Given the description of an element on the screen output the (x, y) to click on. 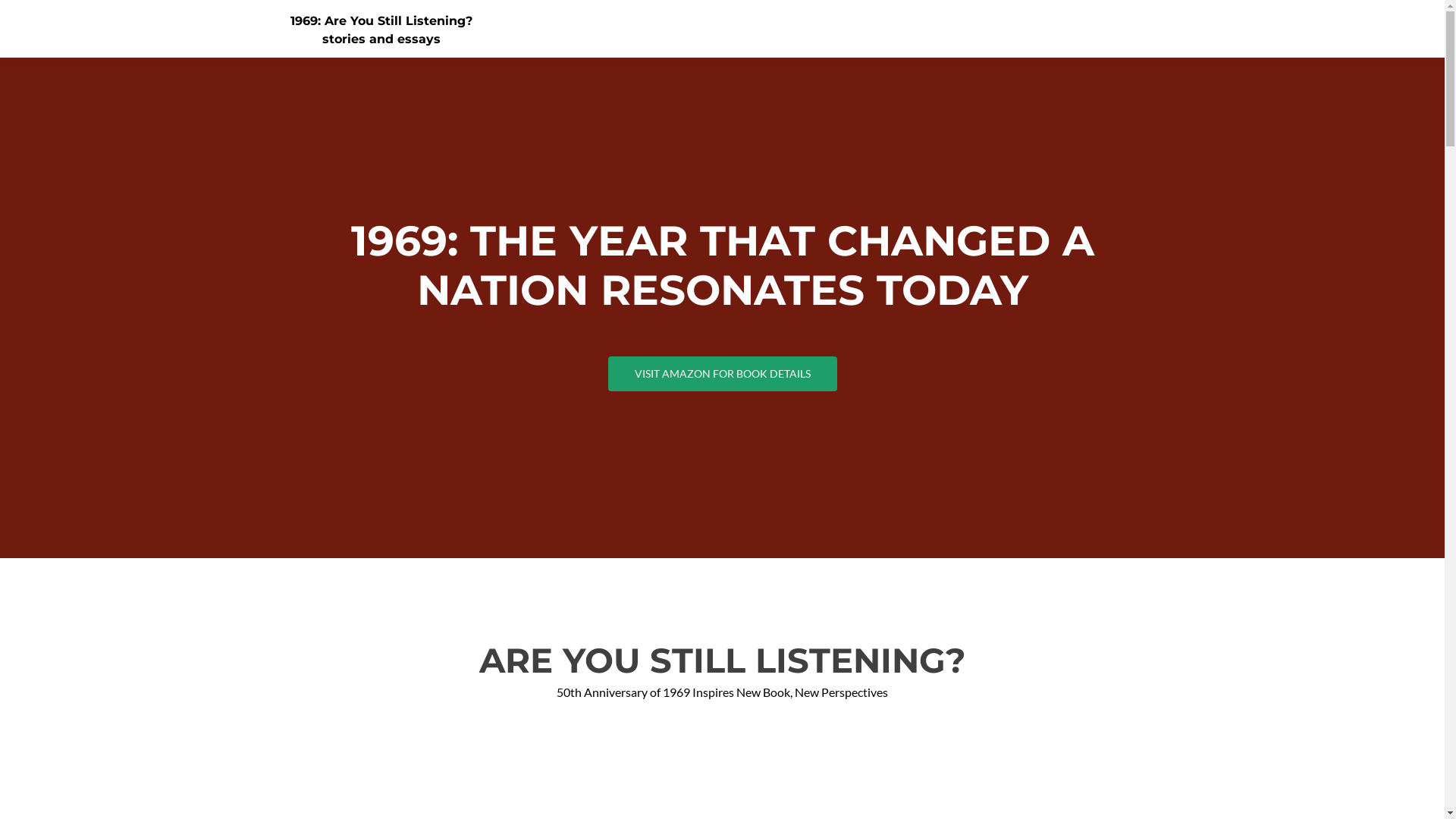
Skip to content Element type: text (1182, 9)
1969: Are You Still Listening? Element type: text (380, 20)
VISIT AMAZON FOR BOOK DETAILS Element type: text (722, 373)
